Given the description of an element on the screen output the (x, y) to click on. 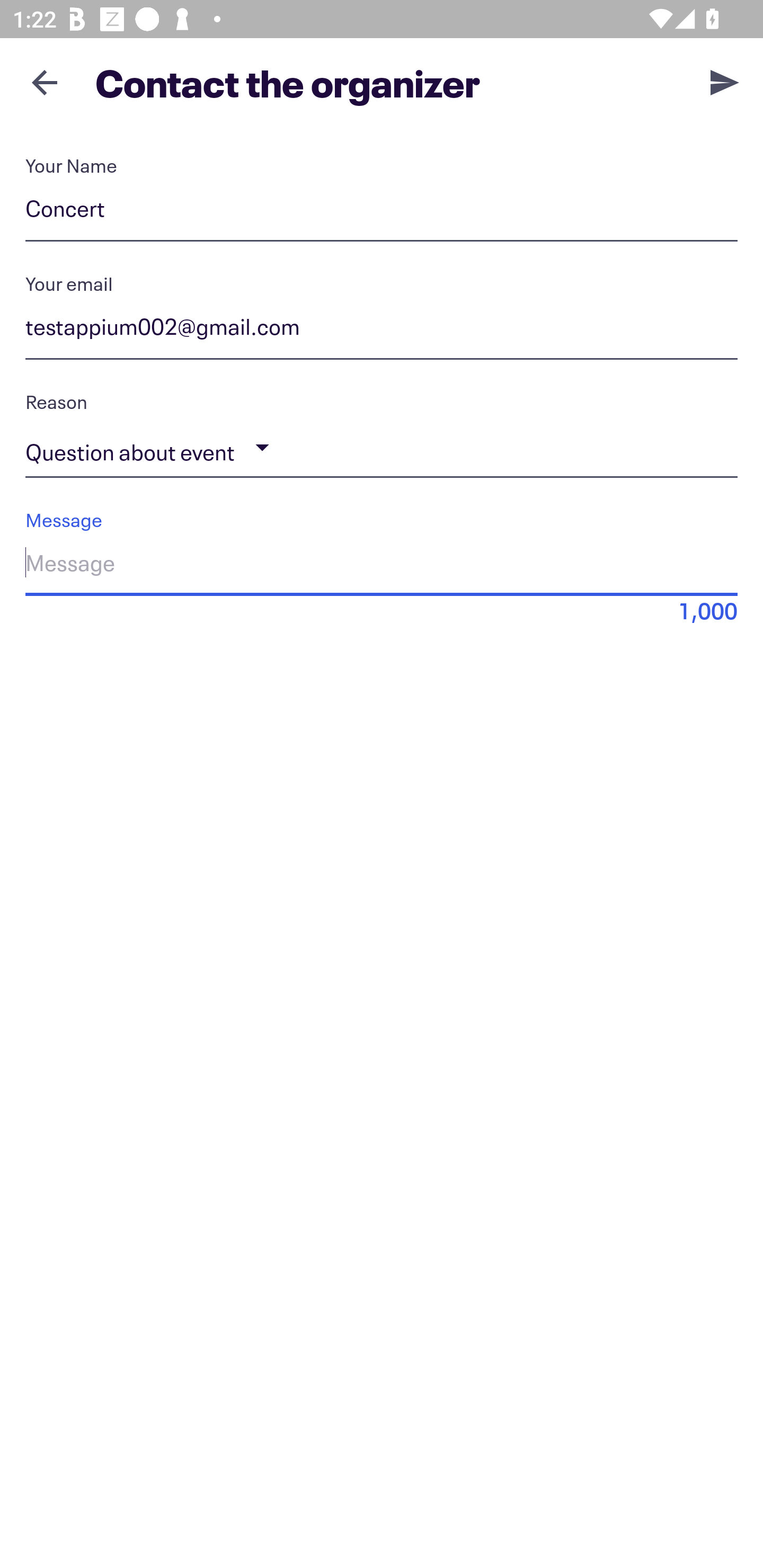
Navigate up (44, 82)
Send (724, 81)
Concert (381, 211)
testappium002@gmail.com (381, 329)
Question about event    (381, 447)
Message (381, 565)
